Given the description of an element on the screen output the (x, y) to click on. 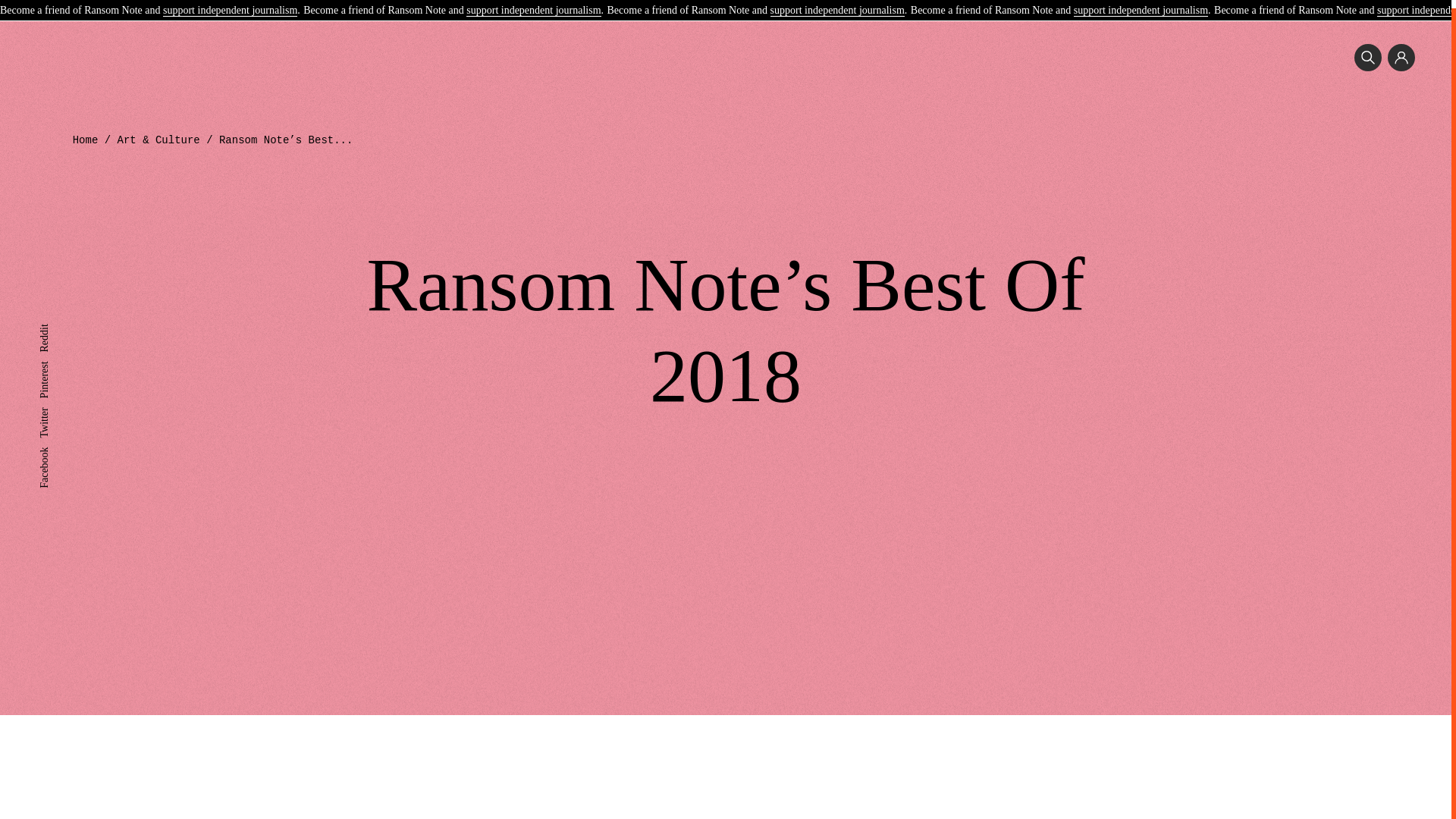
Twitter (53, 404)
Pinterest (57, 358)
support independent journalism (837, 4)
Facebook (59, 444)
support independent journalism (532, 4)
support independent journalism (230, 4)
support independent journalism (1141, 4)
Reddit (52, 321)
Home (85, 140)
